Given the description of an element on the screen output the (x, y) to click on. 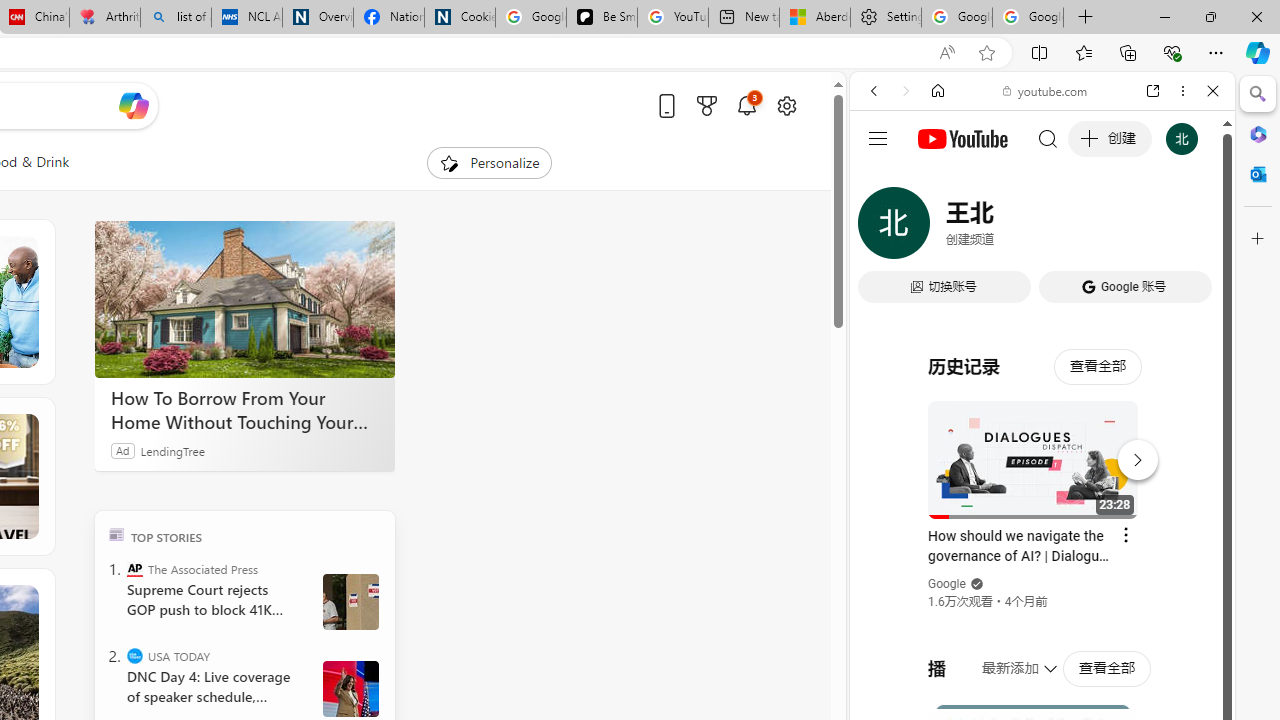
Arthritis: Ask Health Professionals (104, 17)
Web scope (882, 180)
Music (1042, 543)
Preferences (1189, 228)
Search Filter, Search Tools (1093, 228)
USA TODAY (134, 655)
VIDEOS (1006, 228)
list of asthma inhalers uk - Search (175, 17)
